Given the description of an element on the screen output the (x, y) to click on. 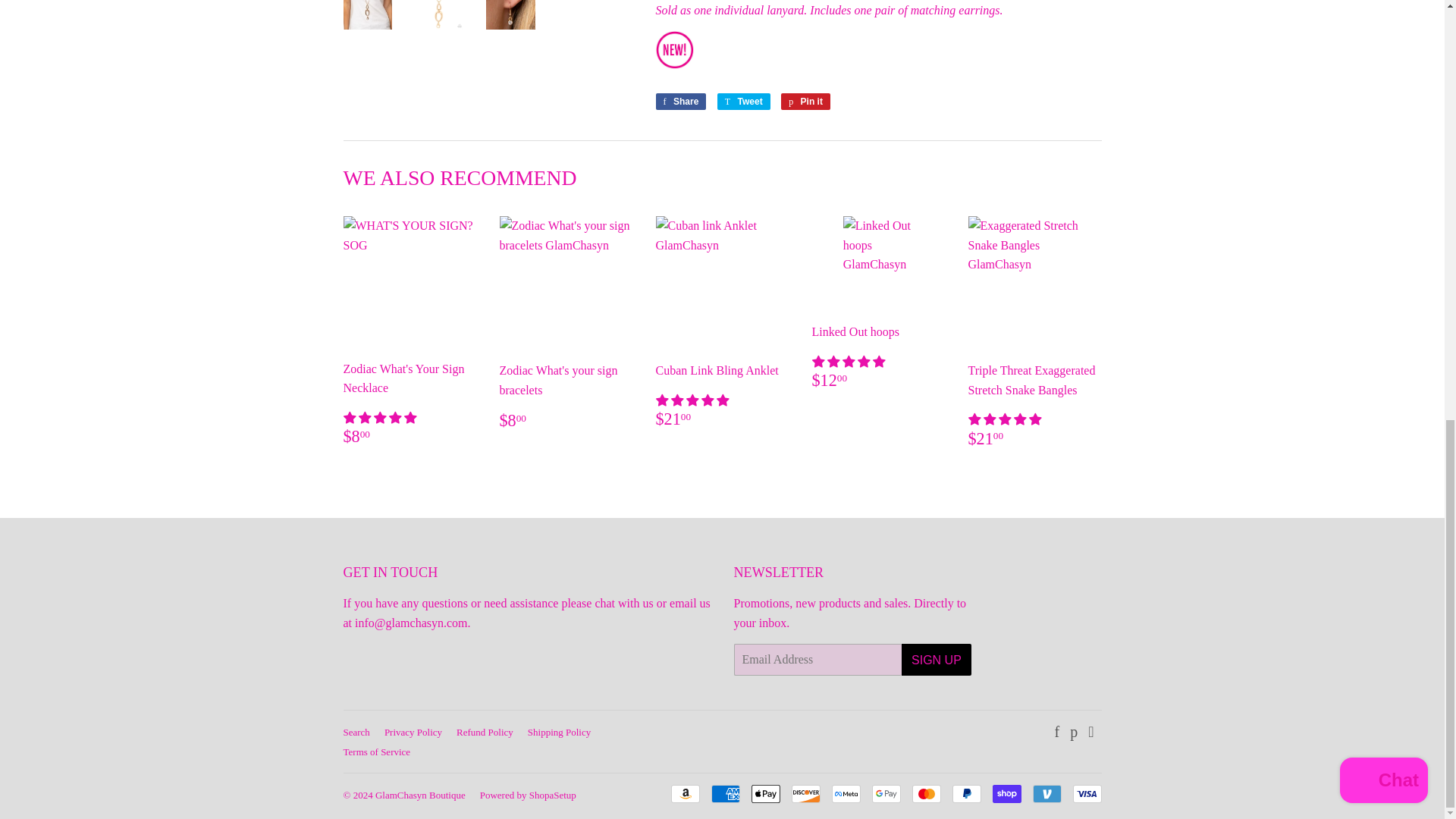
Shop Pay (1005, 793)
Shopify Setup Services for Paparazzi Consultants (552, 794)
Google Pay (886, 793)
Visa (1085, 793)
Discover (806, 793)
Venmo (1046, 793)
Amazon (683, 793)
American Express (725, 793)
Tweet on Twitter (743, 101)
Share on Facebook (680, 101)
